Given the description of an element on the screen output the (x, y) to click on. 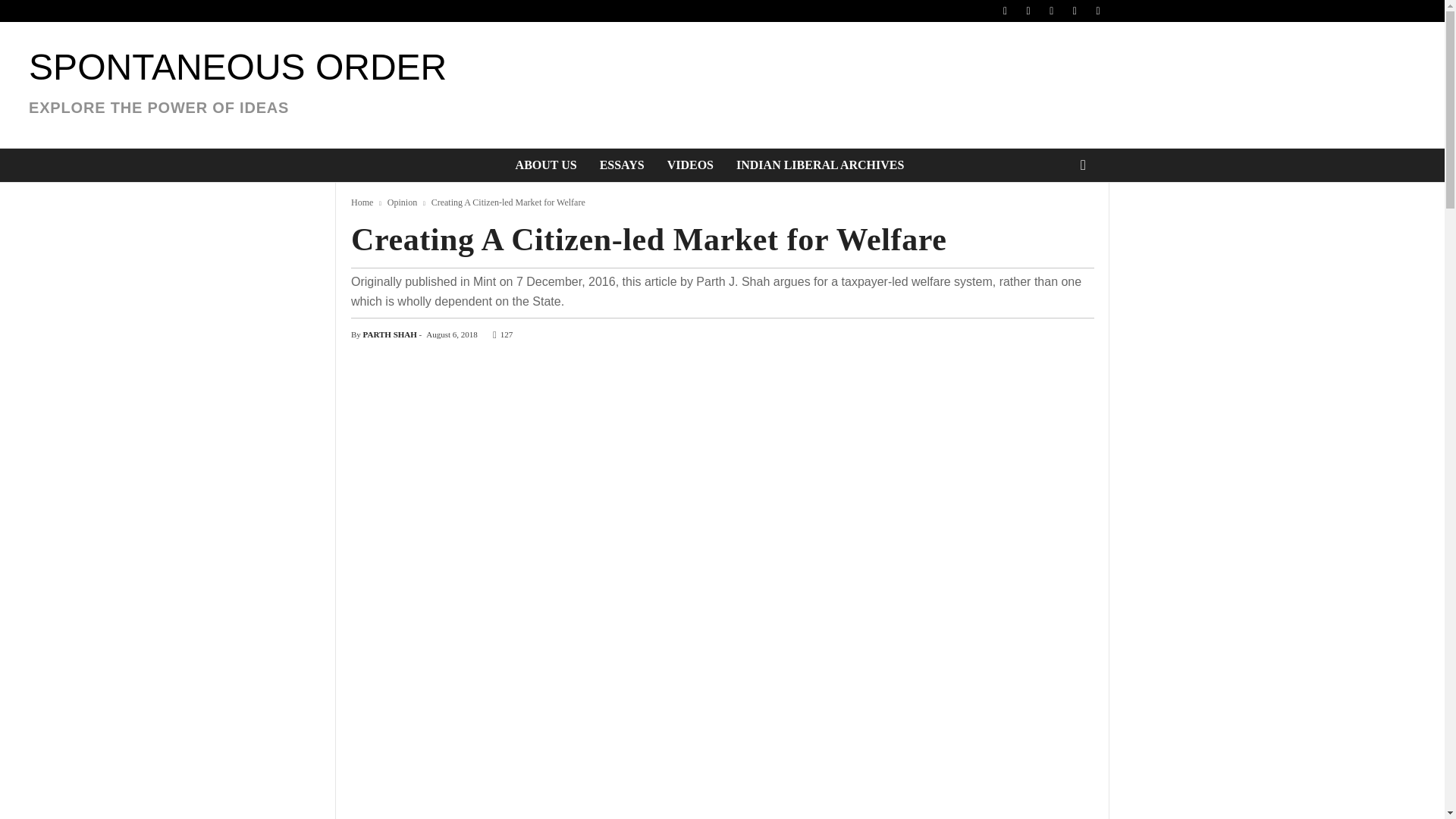
ESSAYS (622, 164)
ABOUT US (545, 164)
VIDEOS (690, 164)
View all posts in Opinion (401, 202)
